Given the description of an element on the screen output the (x, y) to click on. 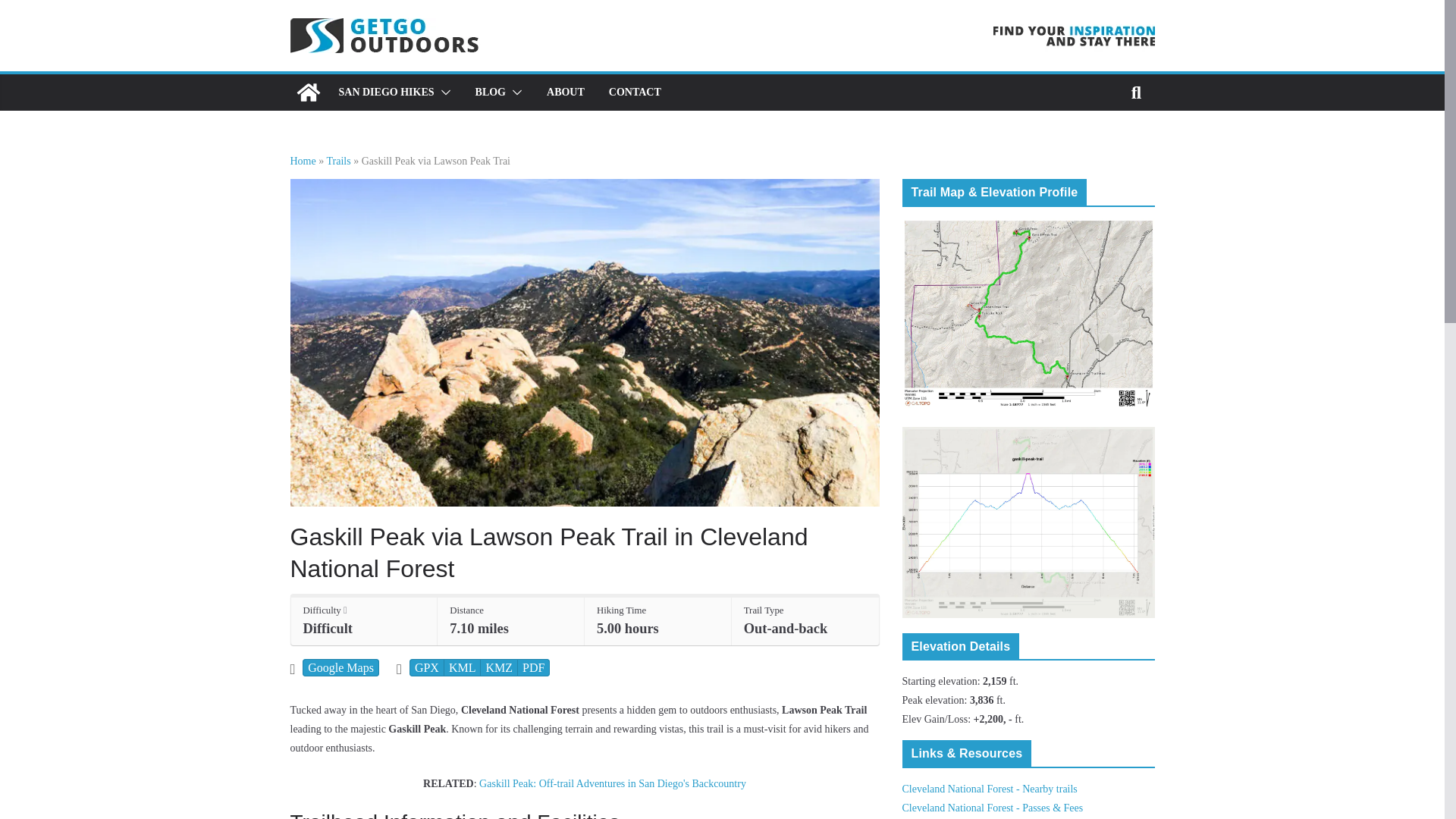
ABOUT (566, 92)
Google Maps (340, 667)
Trails (338, 161)
CONTACT (634, 92)
GPX (426, 667)
BLOG (490, 92)
PDF (533, 667)
SAN DIEGO HIKES (385, 92)
KML (462, 667)
Getgo Outdoors (307, 92)
Home (302, 161)
KMZ (499, 667)
